Given the description of an element on the screen output the (x, y) to click on. 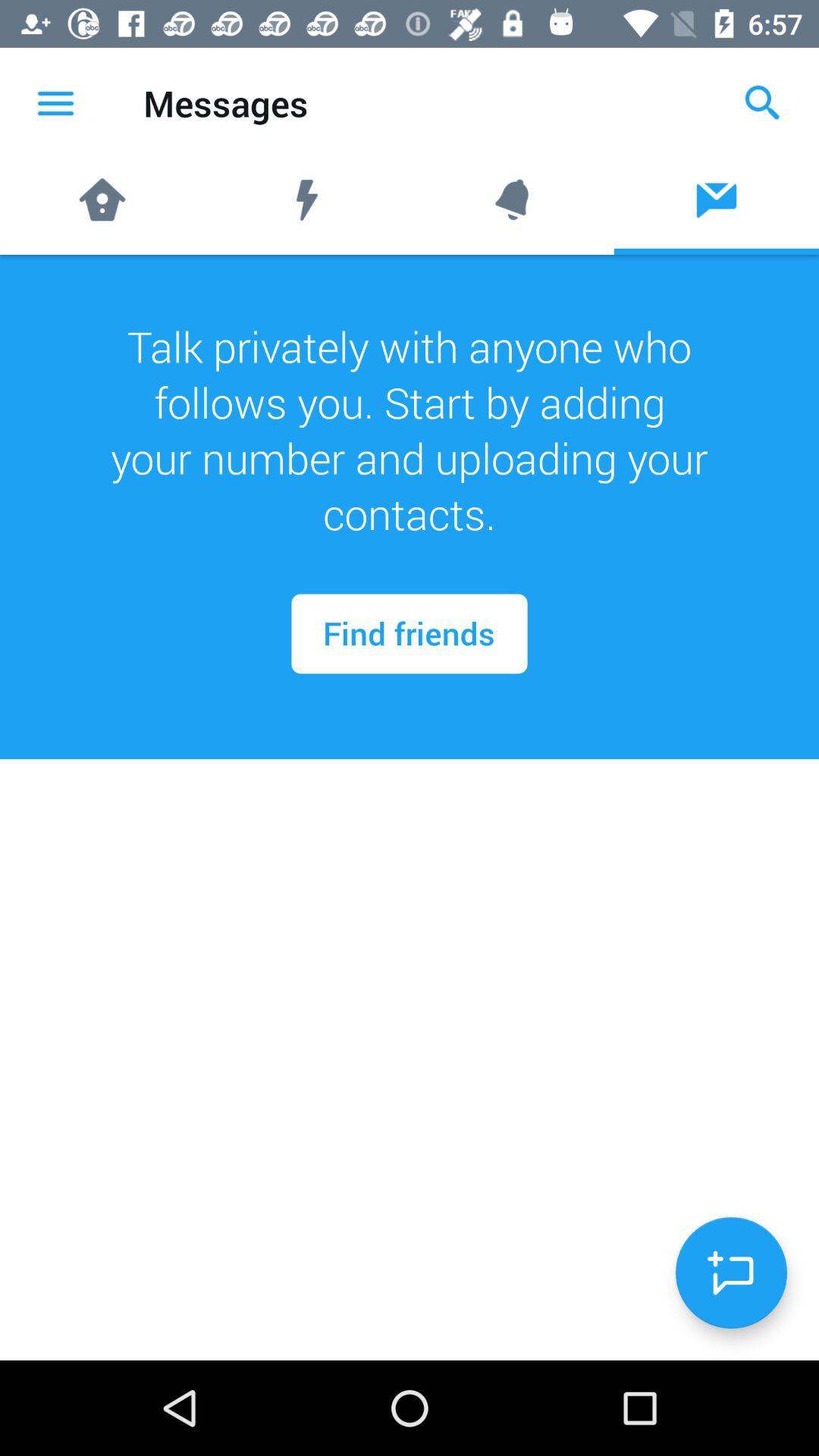
tap the item above the find friends (409, 430)
